Given the description of an element on the screen output the (x, y) to click on. 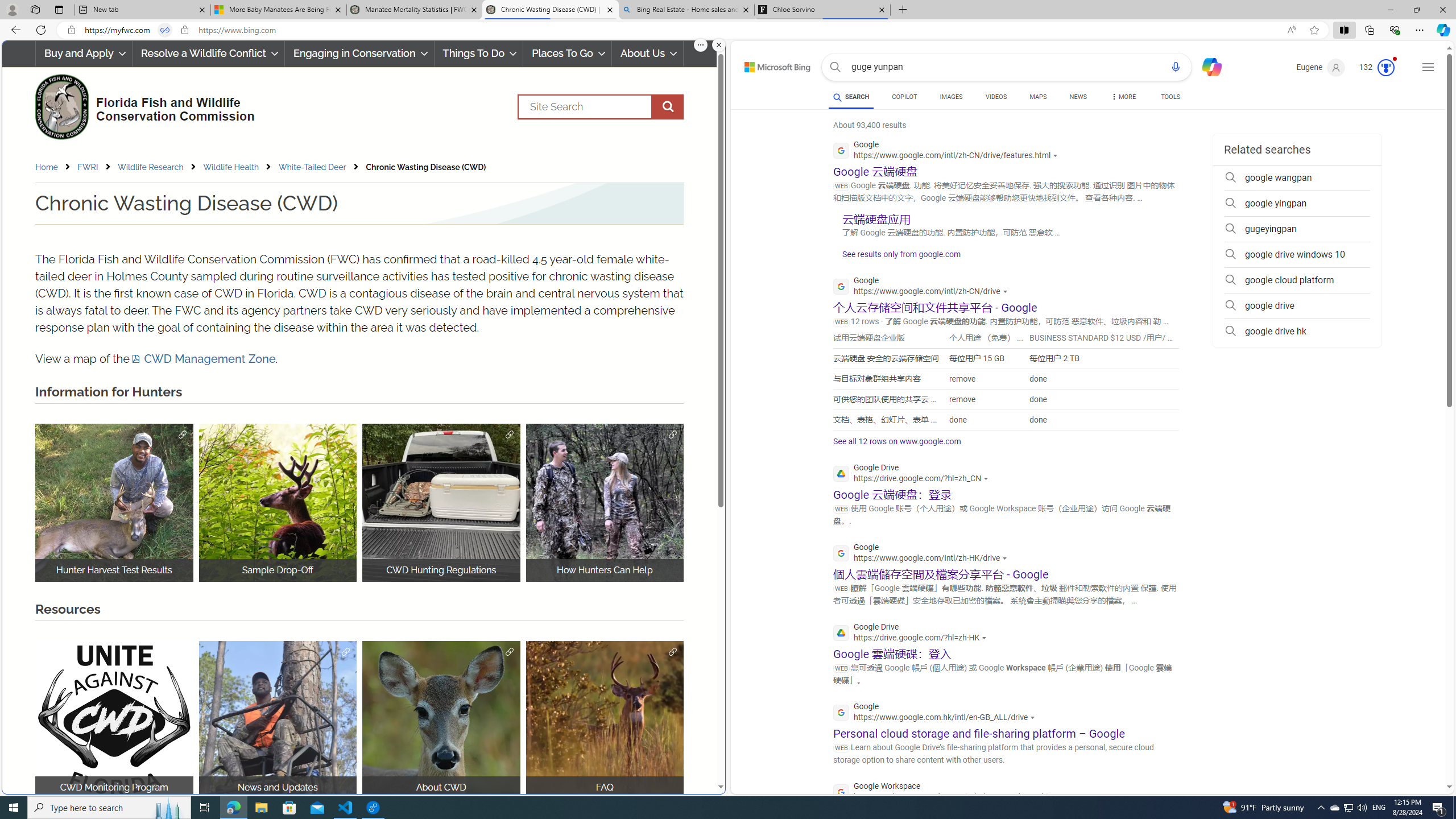
google yingpan (1297, 203)
Hunter Harvest (113, 502)
Chat (1207, 65)
SEARCH (850, 96)
FWC Logo (61, 106)
Things To Do (478, 53)
Engaging in Conservation (358, 53)
Engaging in Conservation (358, 53)
google cloud platform (1297, 280)
MORE (1123, 98)
Resolve a Wildlife Conflict (207, 53)
Settings and quick links (1428, 67)
Home (54, 166)
